Given the description of an element on the screen output the (x, y) to click on. 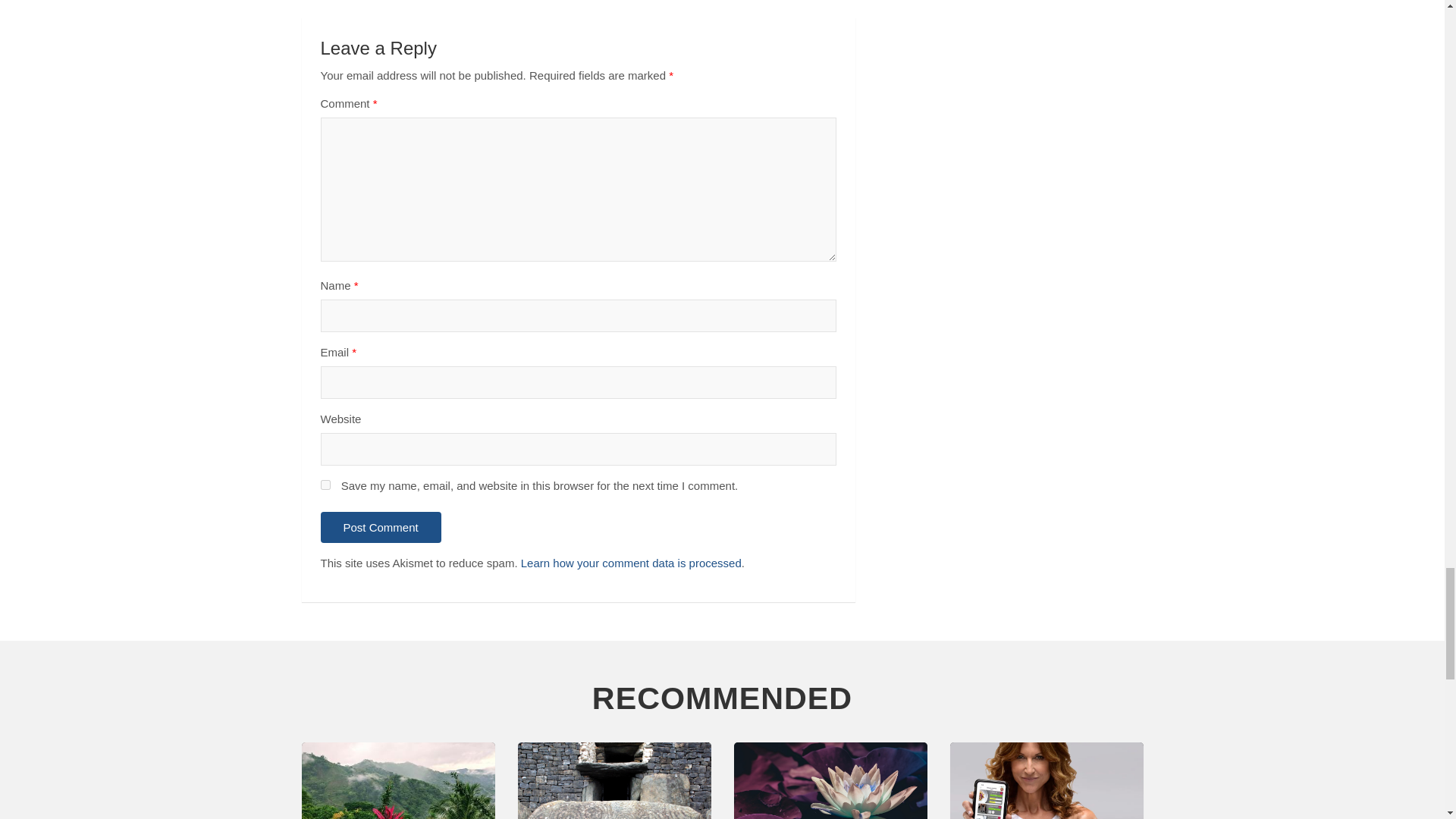
Post Comment (380, 526)
yes (325, 484)
